Given the description of an element on the screen output the (x, y) to click on. 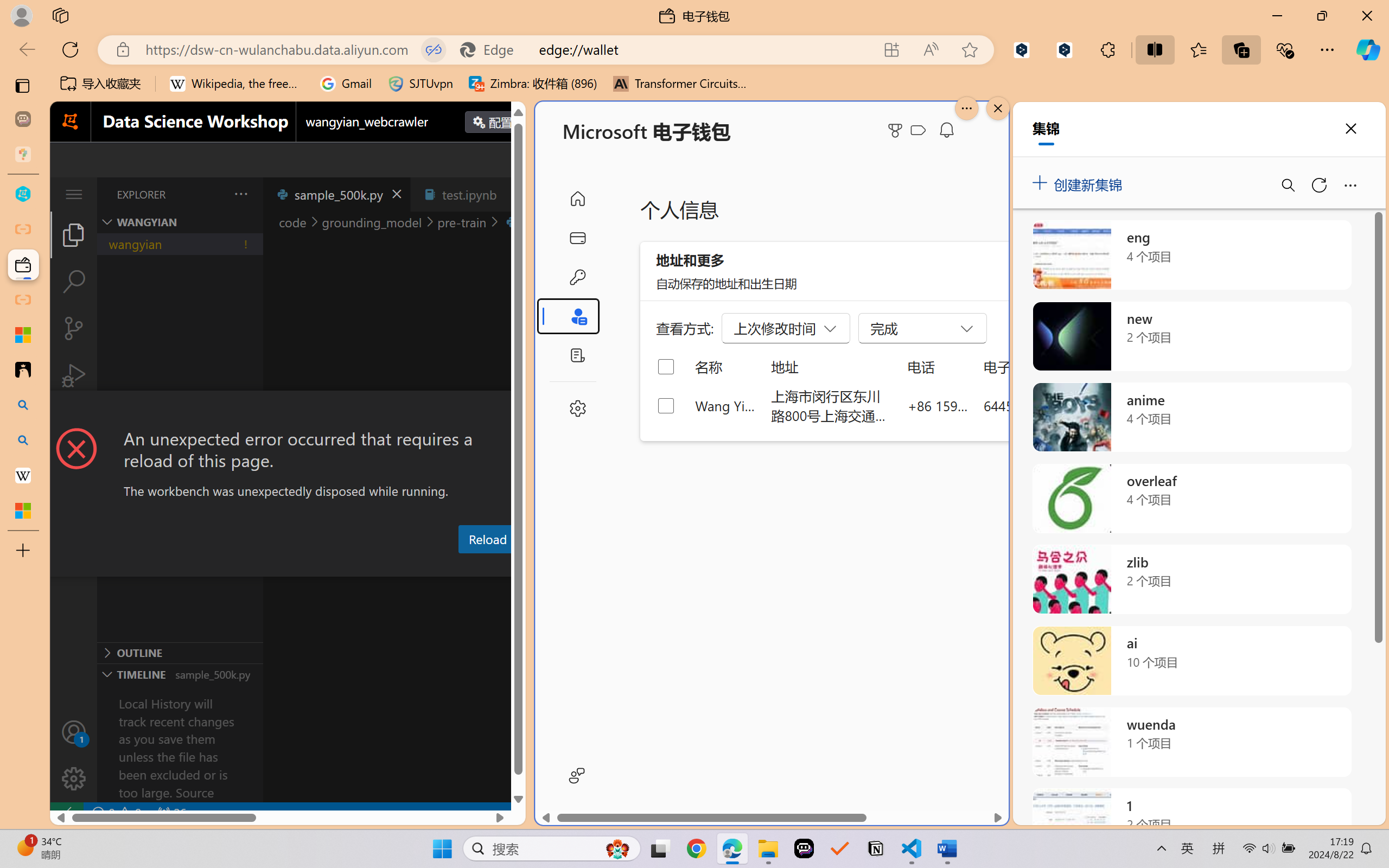
644553698@qq.com (1043, 405)
SJTUvpn (419, 83)
wangyian_dsw - DSW (22, 194)
+86 159 0032 4640 (938, 405)
Tab actions (512, 194)
